Given the description of an element on the screen output the (x, y) to click on. 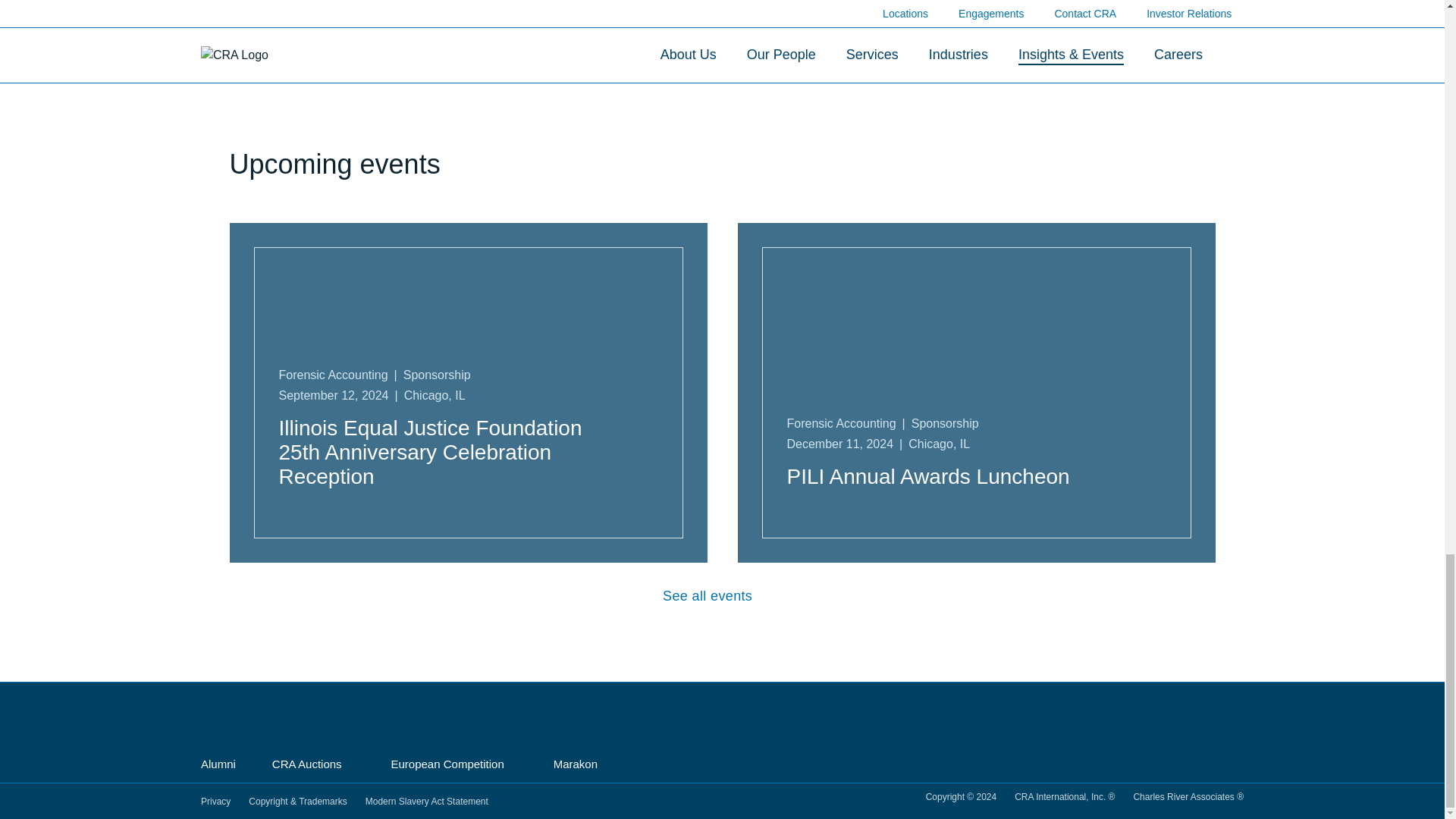
Alumni (217, 765)
Explore our thinking (722, 63)
See all events (721, 595)
CRA Auctions (313, 763)
Marakon (581, 763)
European Competition (453, 763)
